Given the description of an element on the screen output the (x, y) to click on. 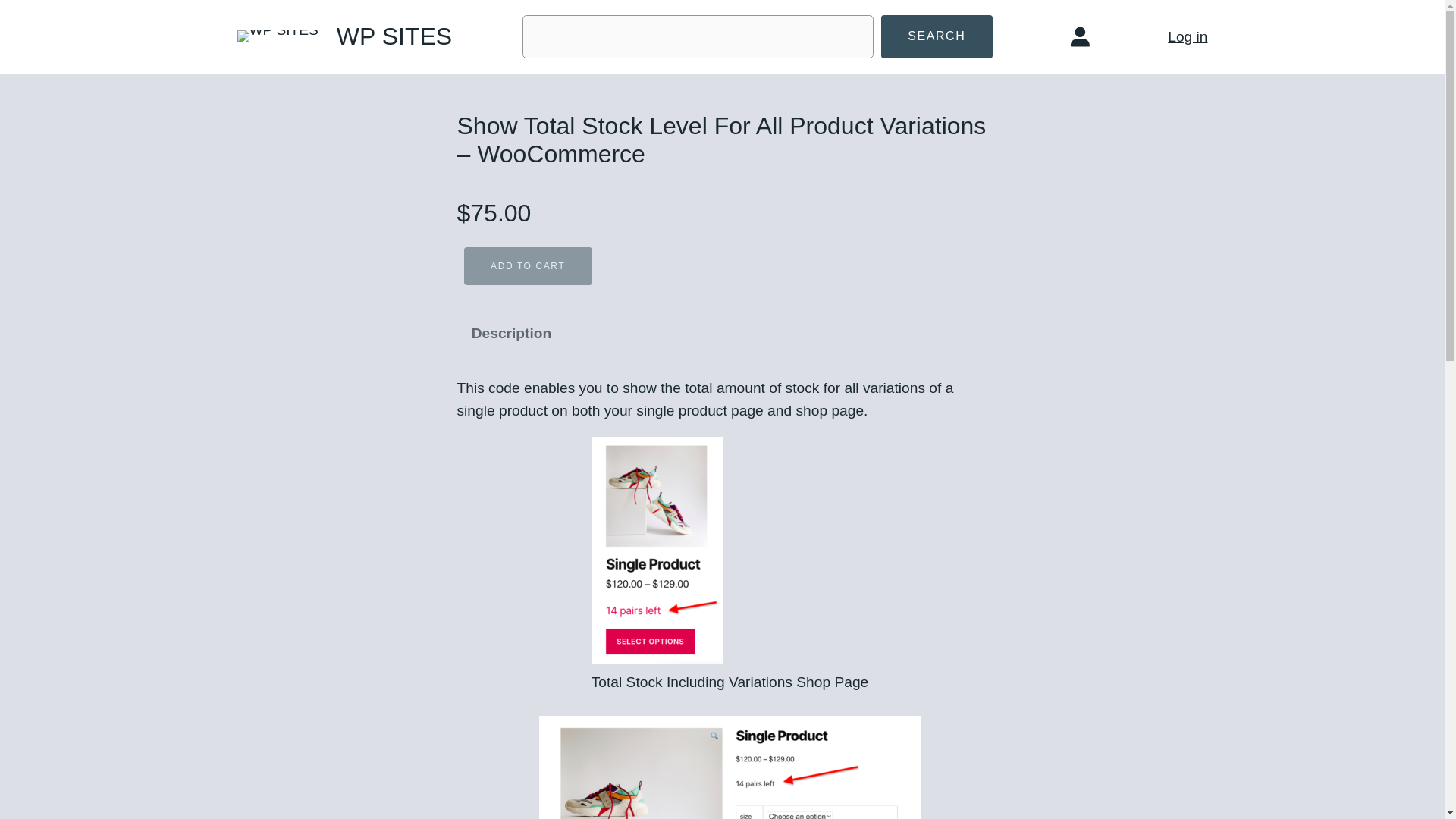
ADD TO CART (528, 266)
Description (511, 333)
Log in (1187, 36)
WP SITES (393, 35)
SEARCH (936, 36)
